Given the description of an element on the screen output the (x, y) to click on. 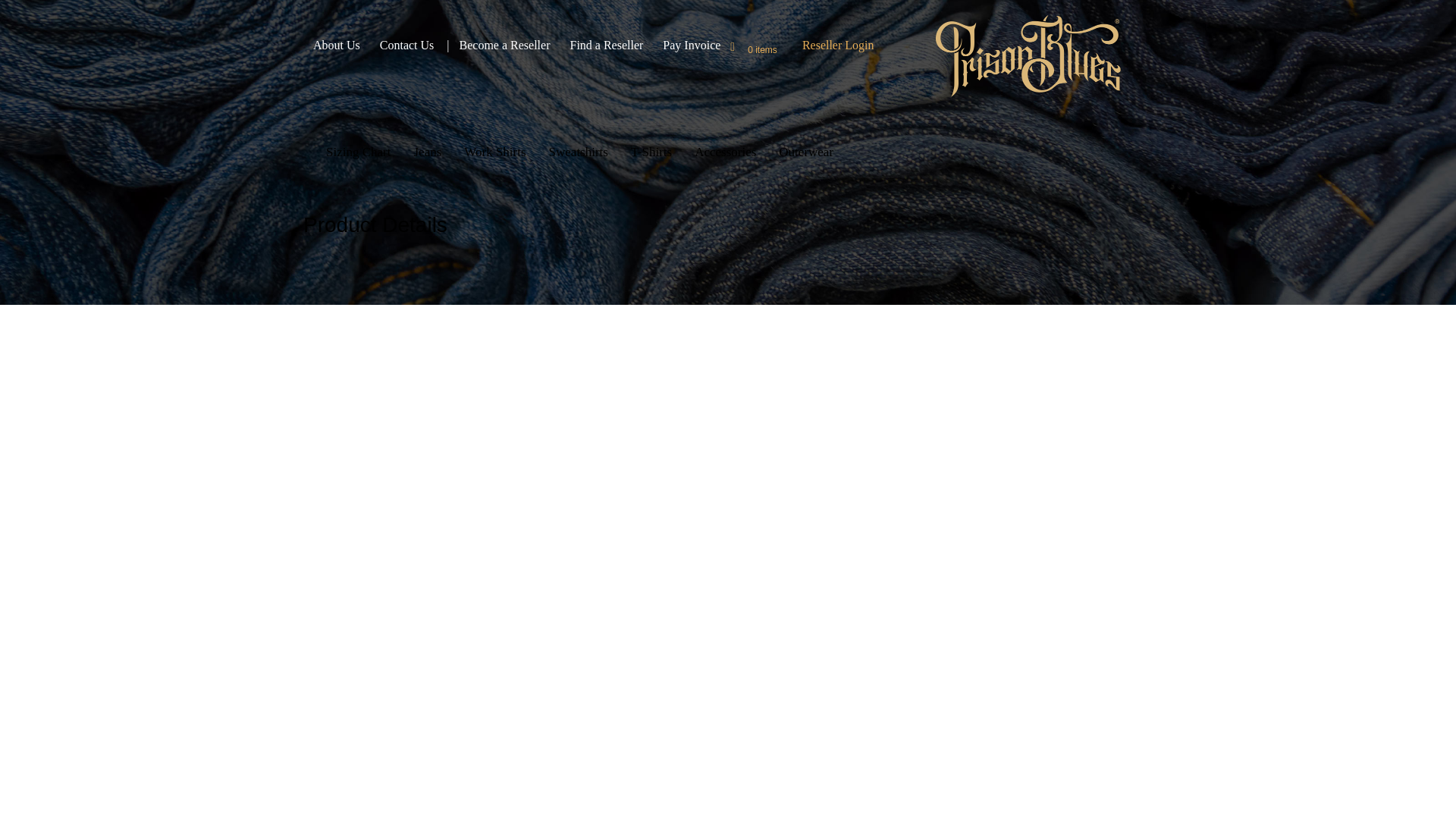
Shopping Cart (741, 48)
Outerwear (799, 150)
Jeans (426, 150)
Become a Reseller (505, 45)
T-Shirts (651, 150)
Shopping Cart (741, 48)
Work Shirts (494, 150)
Prison Blues (1028, 56)
Sizing Chart (357, 150)
0 items (762, 49)
